Given the description of an element on the screen output the (x, y) to click on. 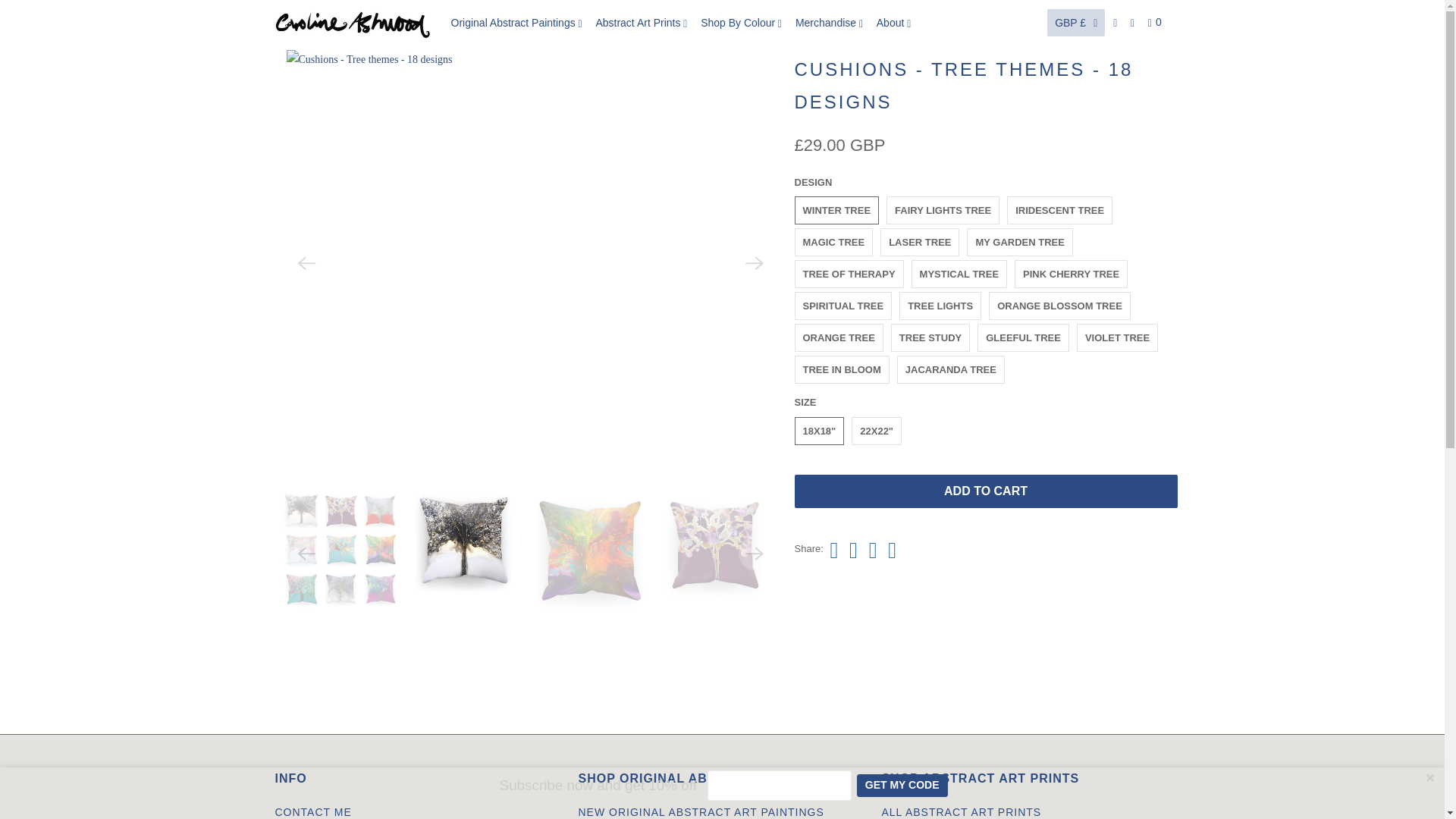
Get my code (902, 784)
Caroline Ashwood (352, 22)
Caroline Ashwood (288, 30)
Products (329, 30)
